Given the description of an element on the screen output the (x, y) to click on. 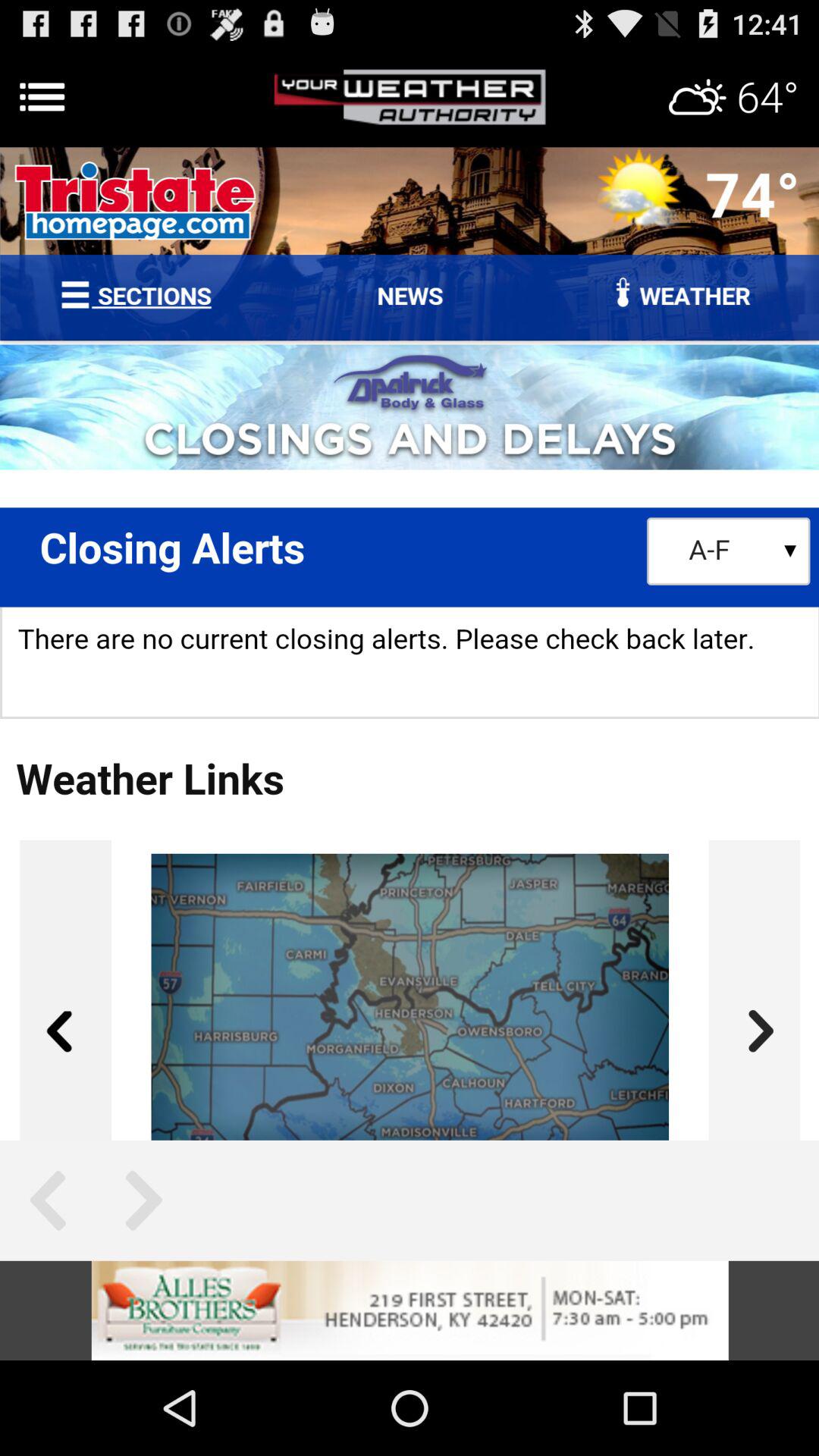
menu bar (409, 97)
